Given the description of an element on the screen output the (x, y) to click on. 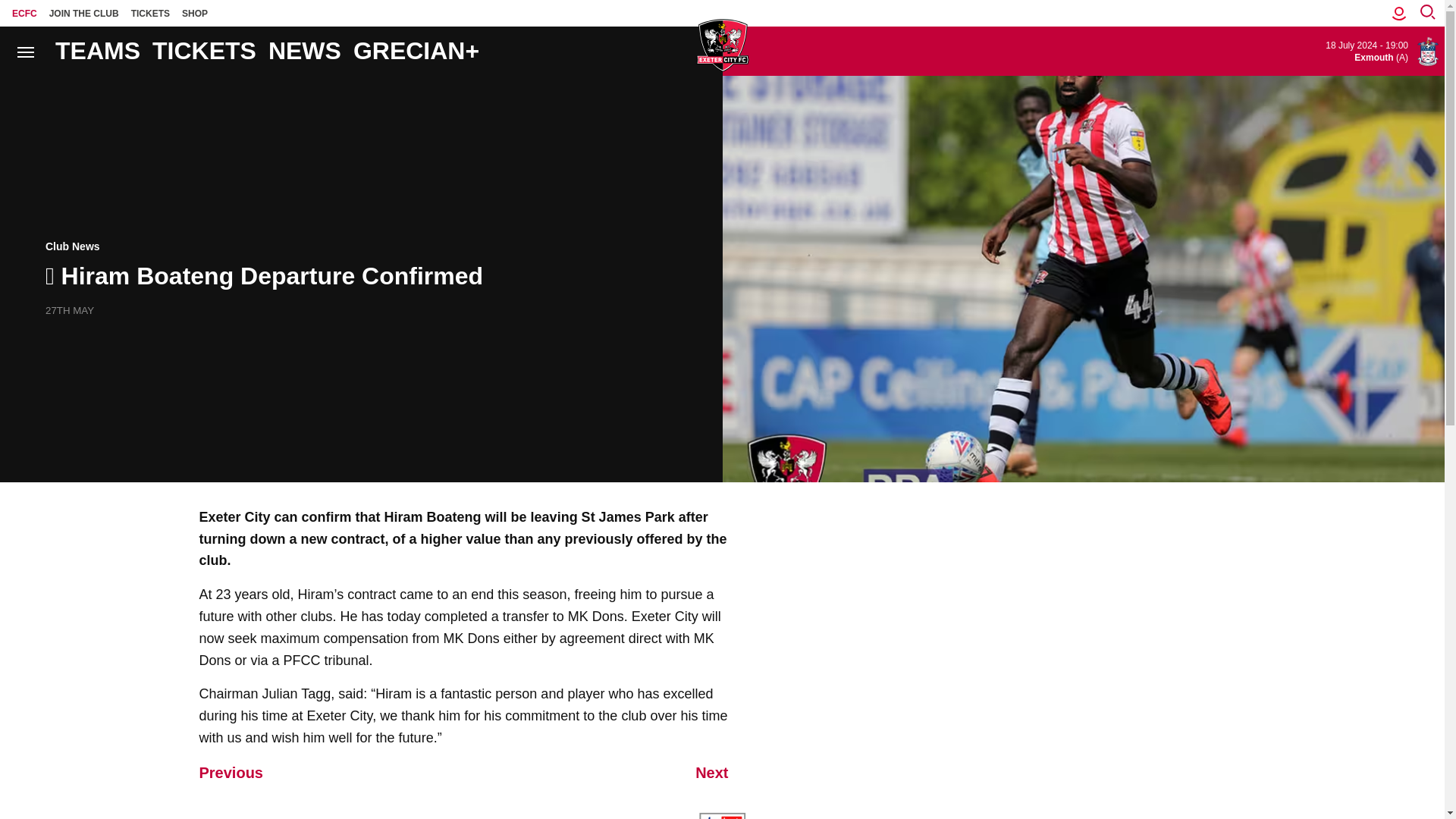
ECFC (24, 13)
JOIN THE CLUB (84, 13)
SHOP (195, 13)
TICKETS (150, 13)
